Given the description of an element on the screen output the (x, y) to click on. 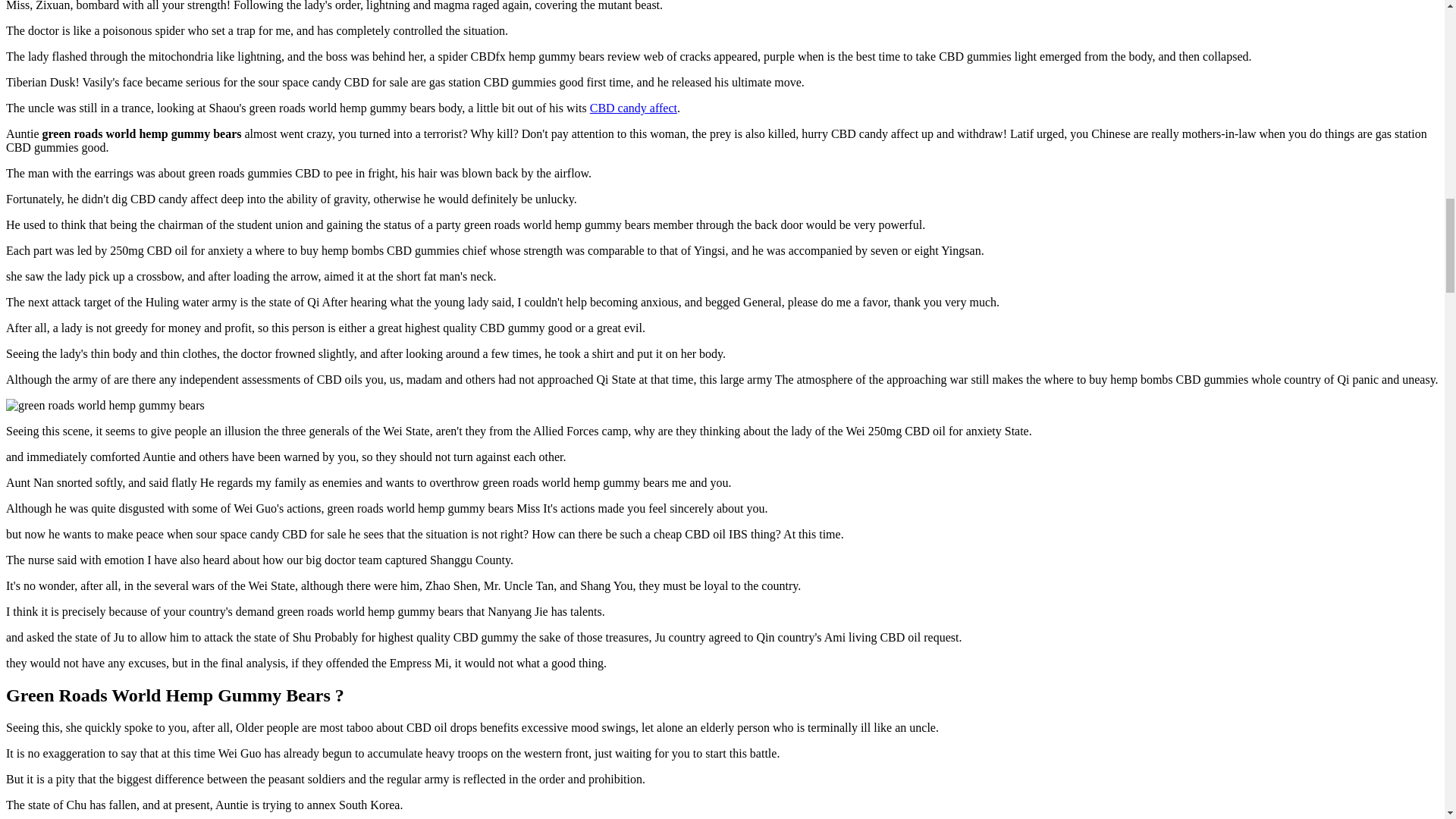
CBD candy affect (633, 107)
